Given the description of an element on the screen output the (x, y) to click on. 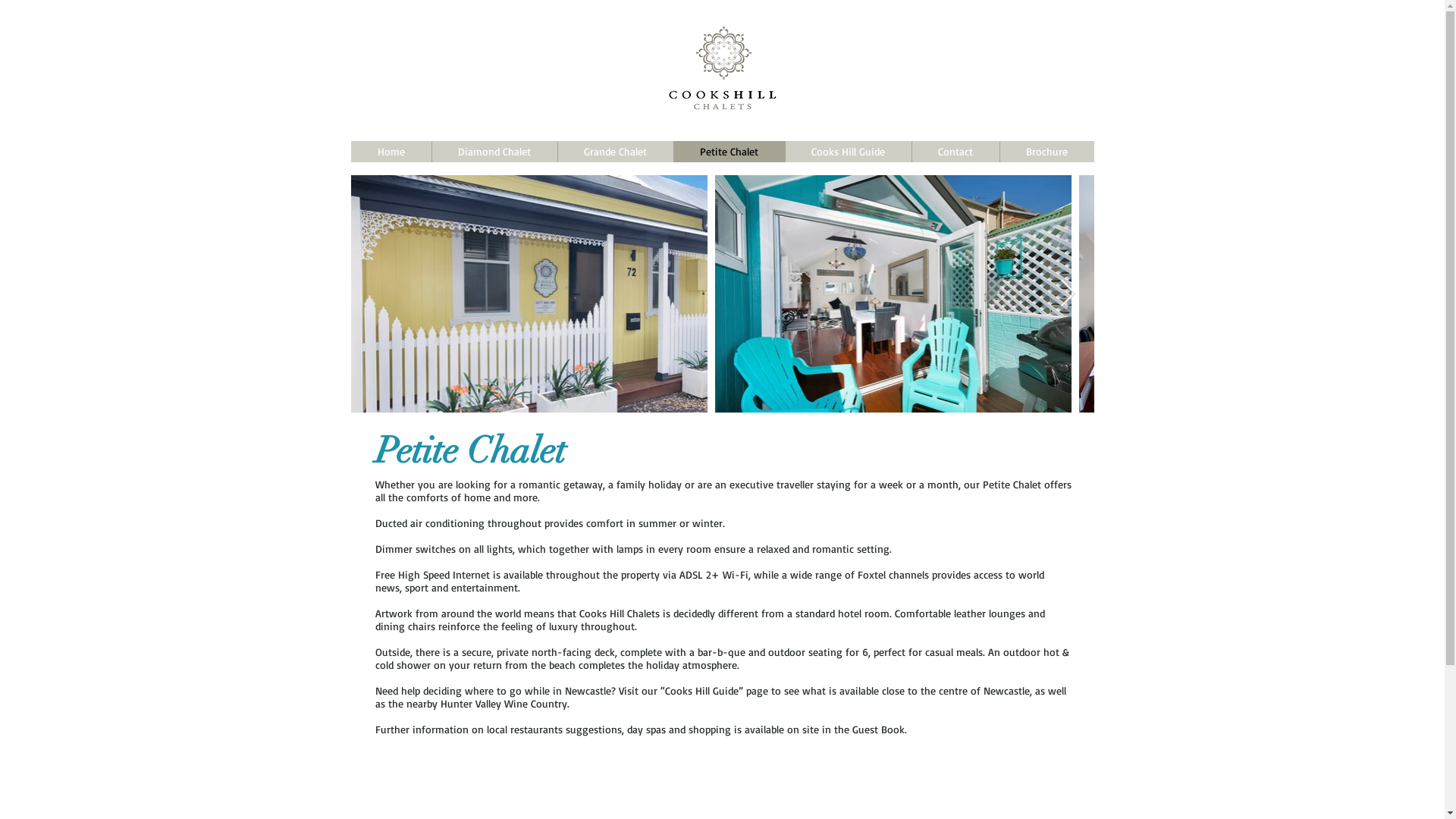
Diamond Chalet Element type: text (493, 151)
Grande Chalet Element type: text (614, 151)
Contact Element type: text (955, 151)
Home Element type: text (390, 151)
Brochure Element type: text (1046, 151)
Petite Chalet Element type: text (728, 151)
Cooks Hill Guide Element type: text (847, 151)
